Given the description of an element on the screen output the (x, y) to click on. 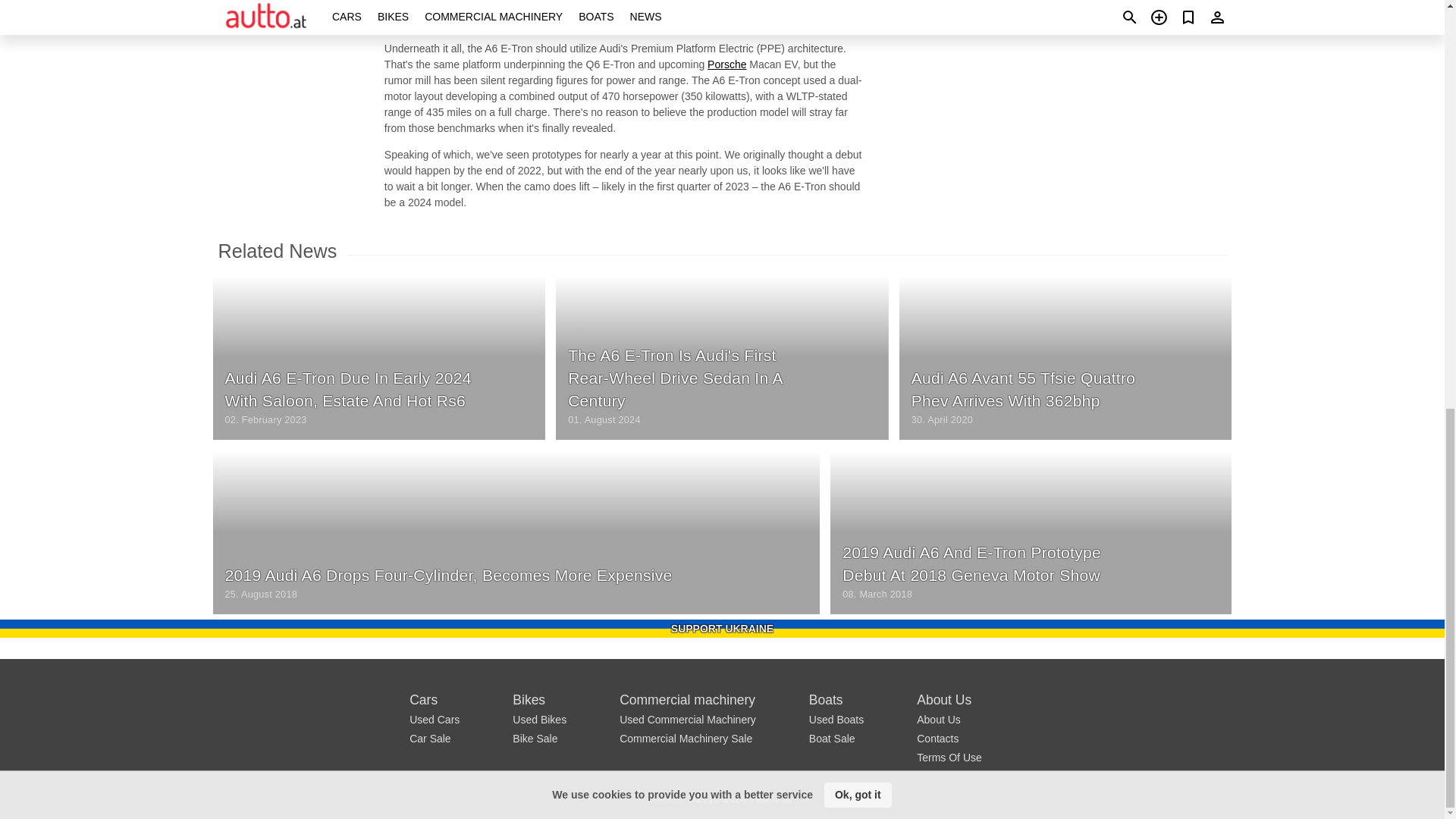
Car Sale (429, 738)
Used Cars (434, 719)
Terms Of Use (949, 757)
Used Commercial Machinery (687, 719)
Used Bikes (539, 719)
Commercial Machinery Sale (686, 738)
About Us (938, 719)
Boat Sale (832, 738)
